Given the description of an element on the screen output the (x, y) to click on. 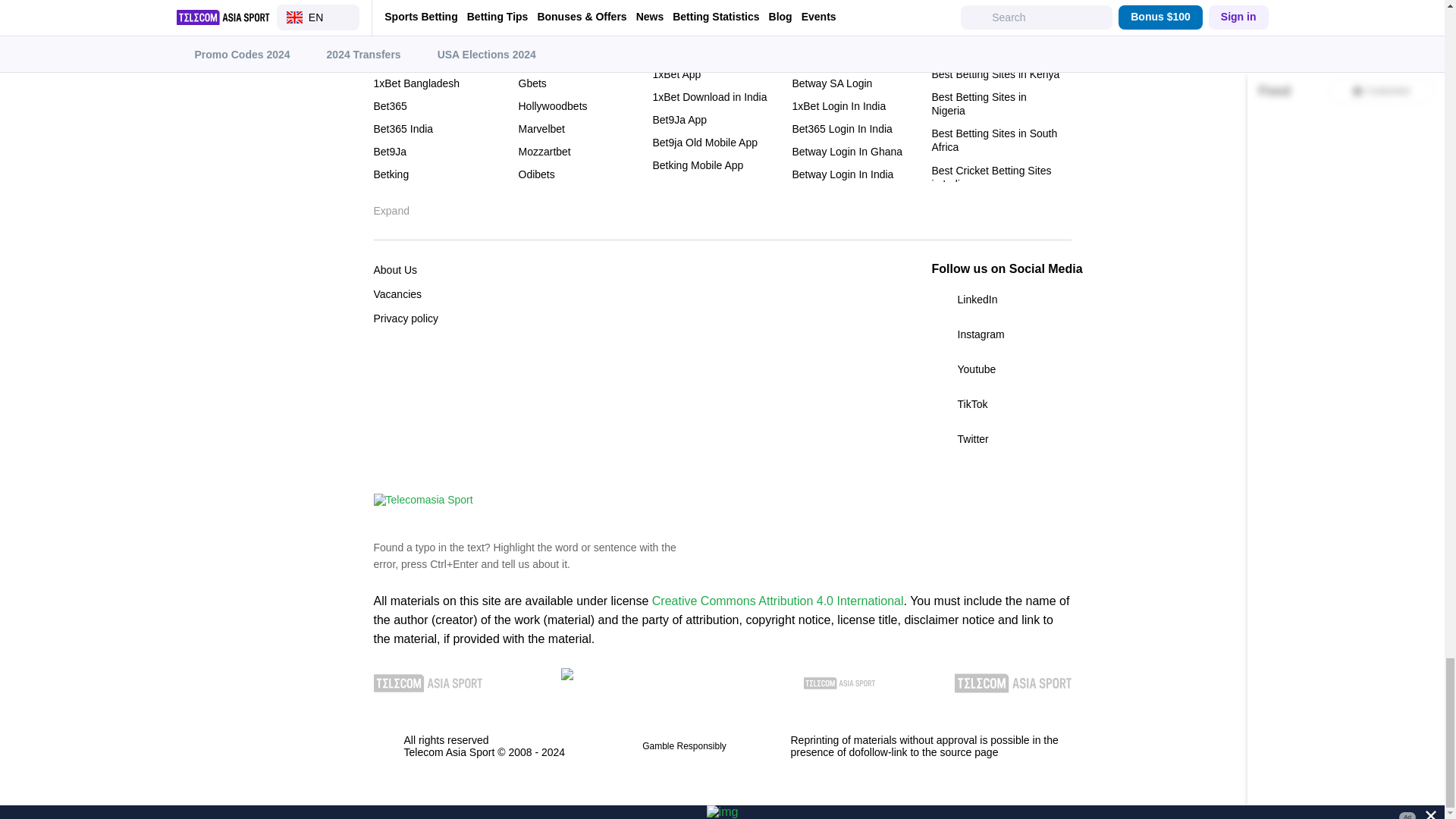
Instagram (1000, 334)
Youtube (1000, 369)
LinkedIn (1000, 299)
TikTok (1000, 403)
